Given the description of an element on the screen output the (x, y) to click on. 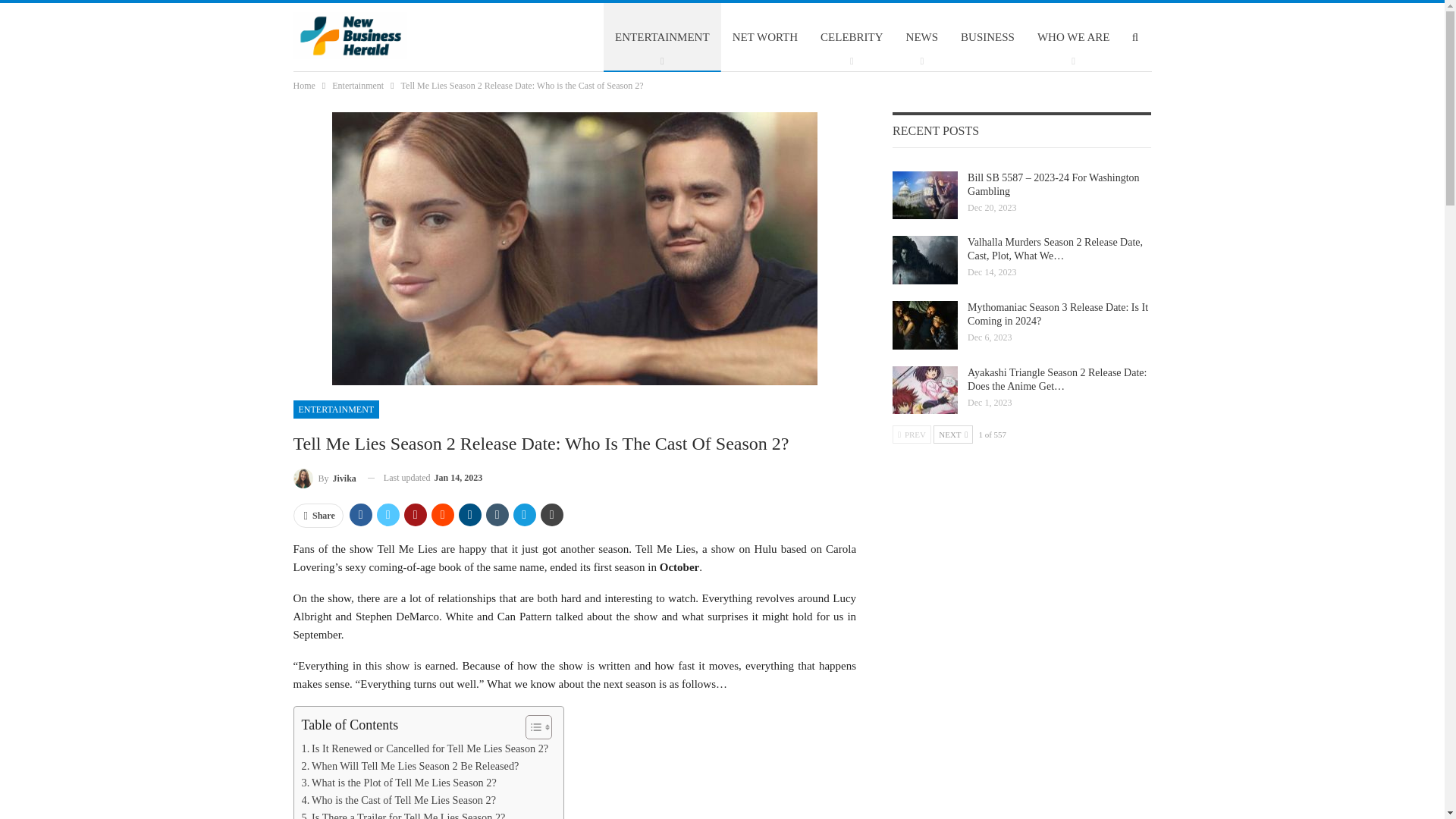
CELEBRITY (852, 37)
ENTERTAINMENT (335, 409)
Is There a Trailer for Tell Me Lies Season 2? (403, 814)
When Will Tell Me Lies Season 2 Be Released? (410, 765)
By Jivika (323, 477)
What is the Plot of Tell Me Lies Season 2? (398, 782)
Home (303, 85)
WHO WE ARE (1073, 37)
Is It Renewed or Cancelled for Tell Me Lies Season 2? (424, 748)
BUSINESS (987, 37)
ENTERTAINMENT (662, 37)
Who is the Cast of Tell Me Lies Season 2? (398, 800)
Is It Renewed or Cancelled for Tell Me Lies Season 2? (424, 748)
When Will Tell Me Lies Season 2 Be Released? (410, 765)
NET WORTH (764, 37)
